Given the description of an element on the screen output the (x, y) to click on. 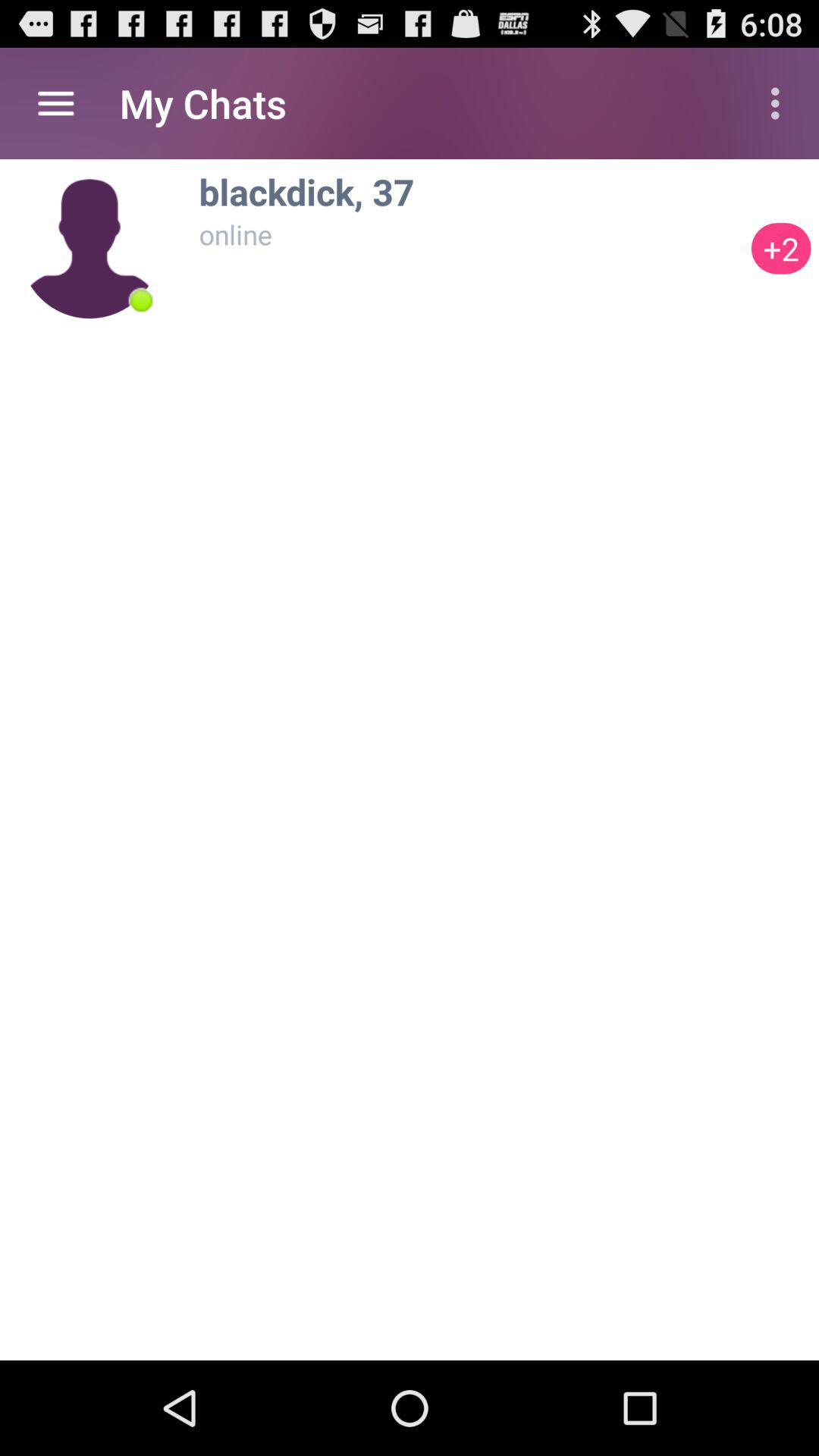
swipe until the online icon (471, 234)
